Given the description of an element on the screen output the (x, y) to click on. 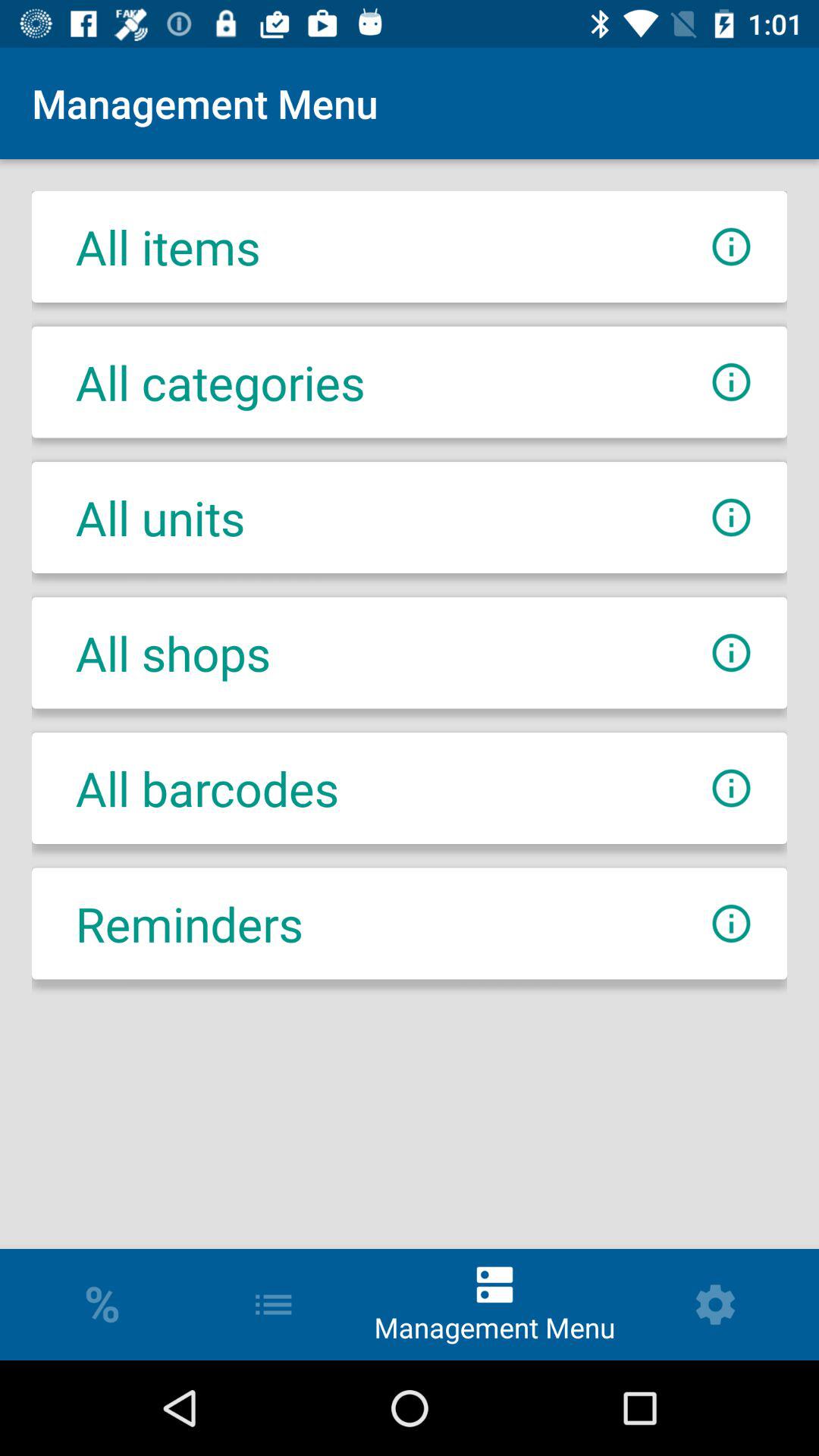
more info (731, 246)
